Given the description of an element on the screen output the (x, y) to click on. 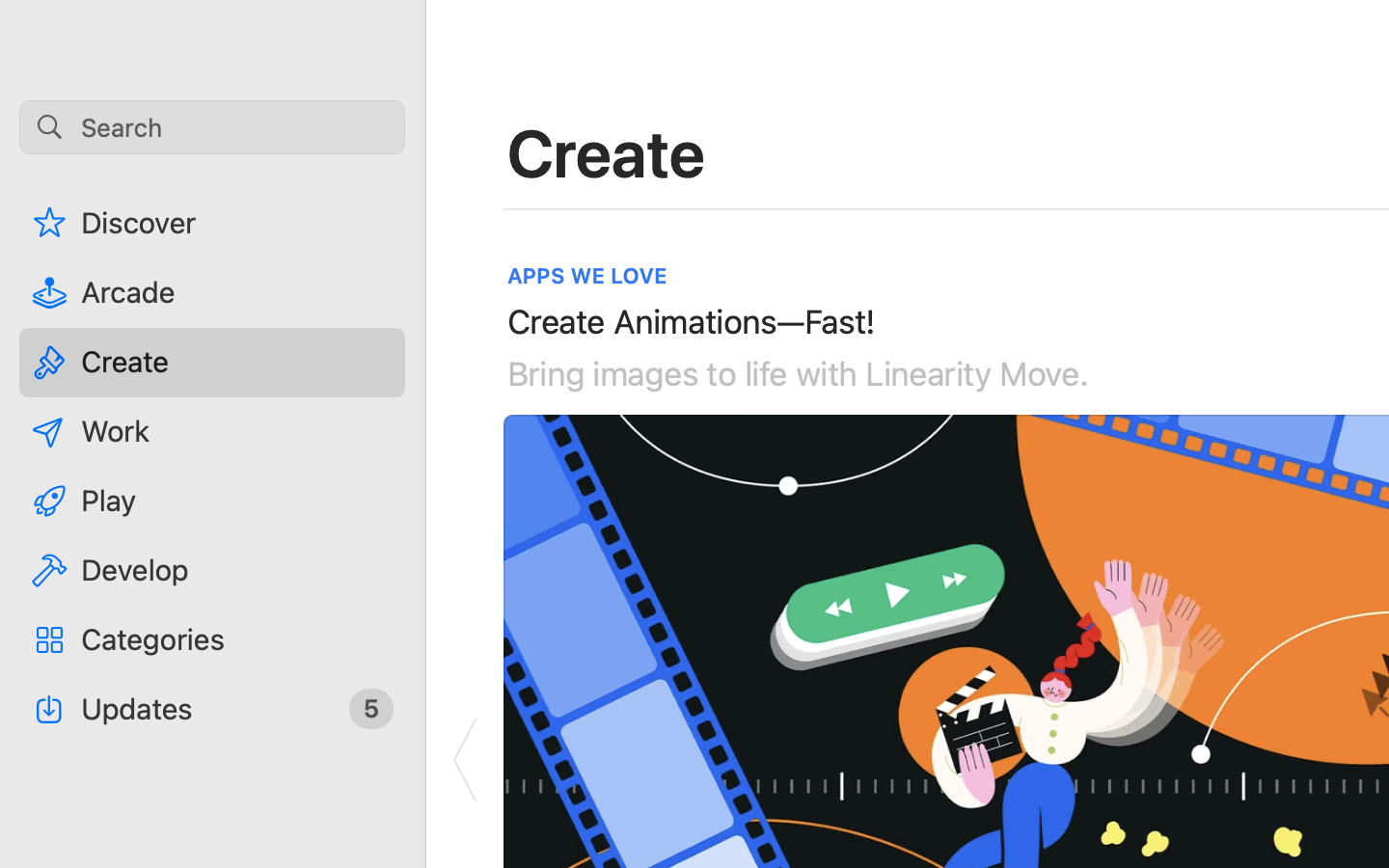
Create Element type: AXStaticText (606, 151)
